Given the description of an element on the screen output the (x, y) to click on. 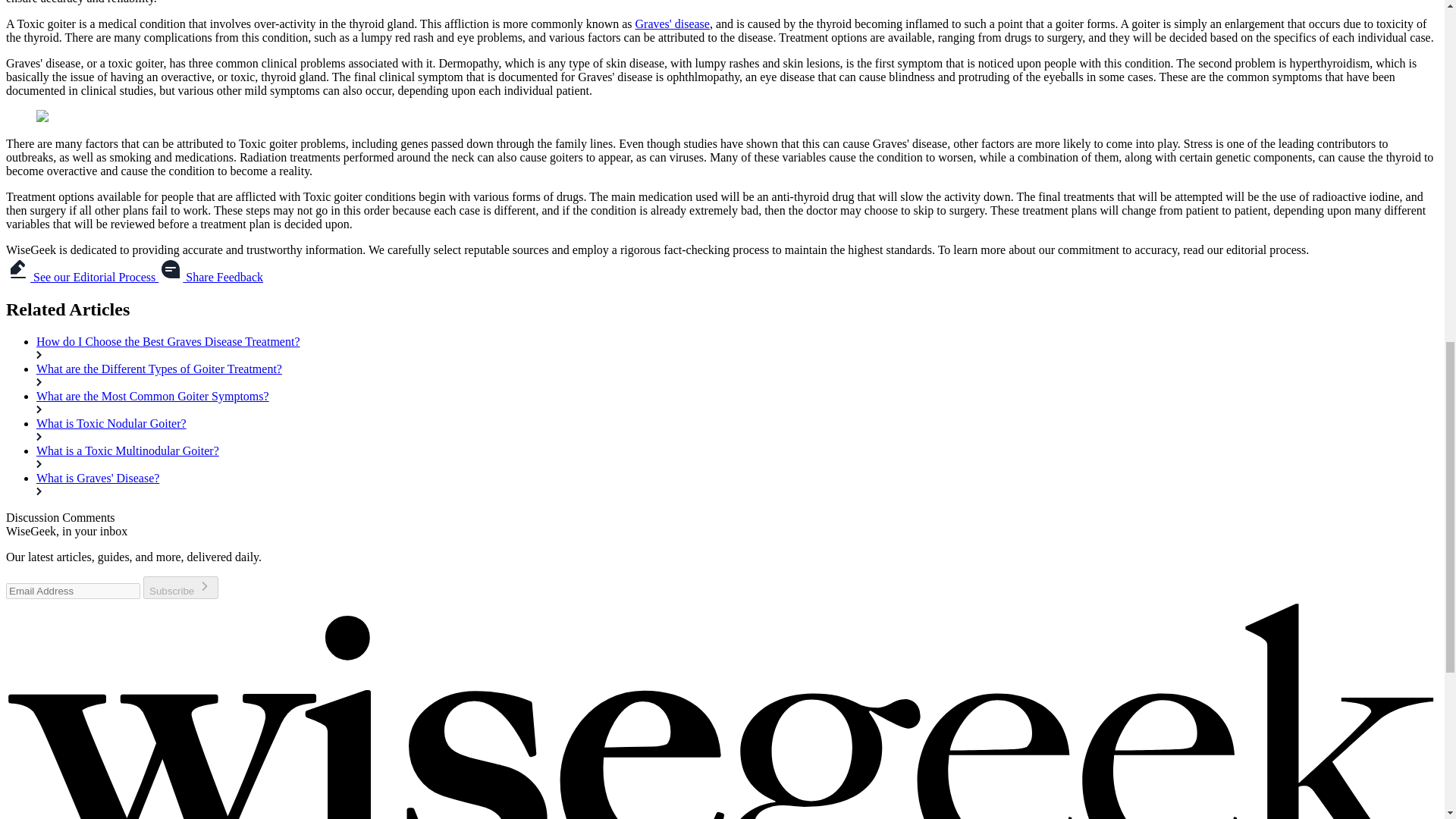
Subscribe (180, 587)
Graves' disease (672, 23)
Share Feedback (210, 277)
See our Editorial Process (81, 277)
